Given the description of an element on the screen output the (x, y) to click on. 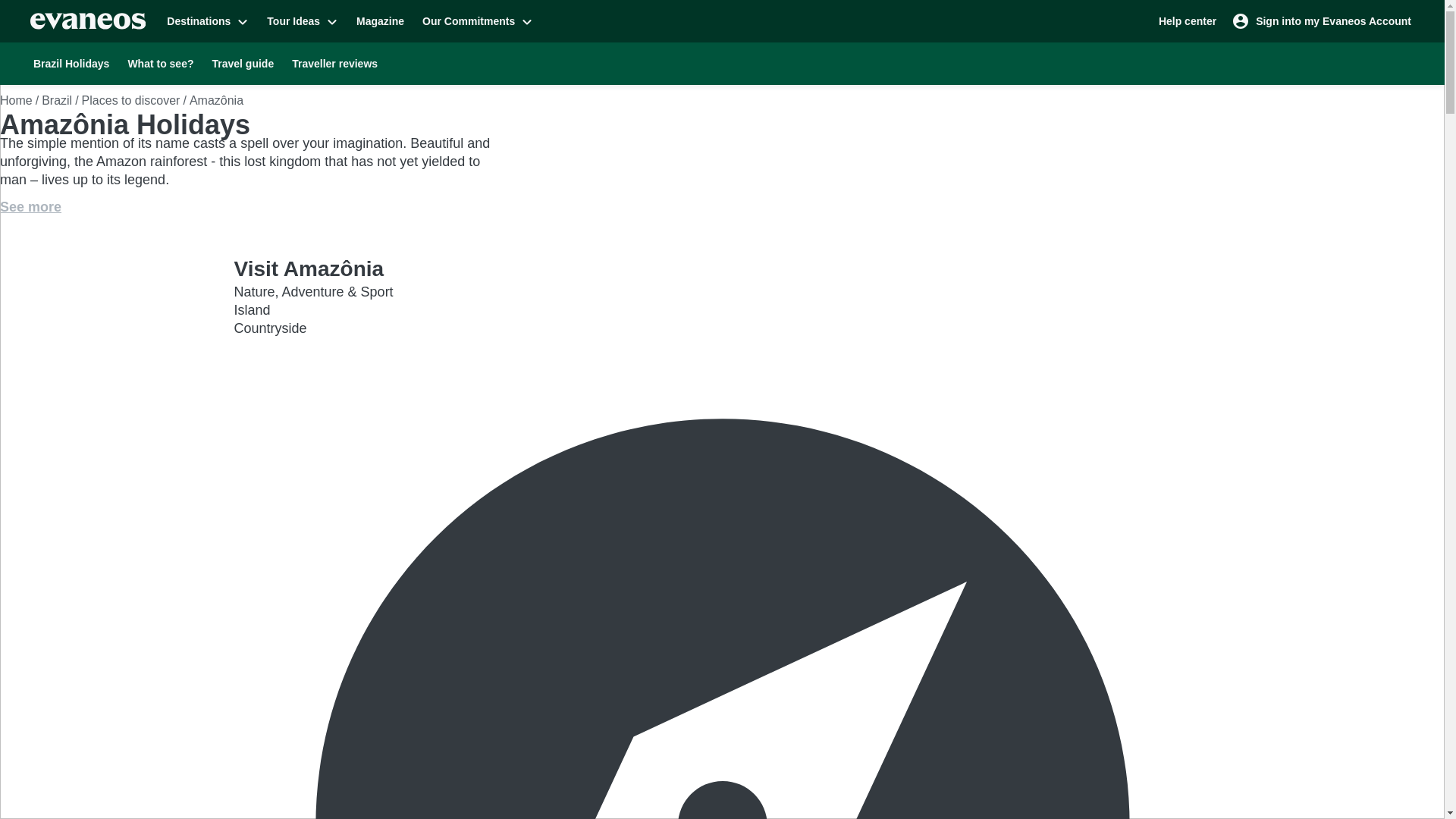
Traveller reviews (334, 63)
Destinations (207, 20)
Brazil Holidays (70, 63)
Evaneos (87, 21)
Help center (1187, 20)
Places to discover (130, 100)
Magazine (380, 20)
Home (16, 100)
What to see? (159, 63)
See more (30, 207)
Evaneos (87, 21)
Sign into my Evaneos Account (1323, 20)
Travel guide (243, 63)
Tour Ideas (302, 20)
Brazil (56, 100)
